Given the description of an element on the screen output the (x, y) to click on. 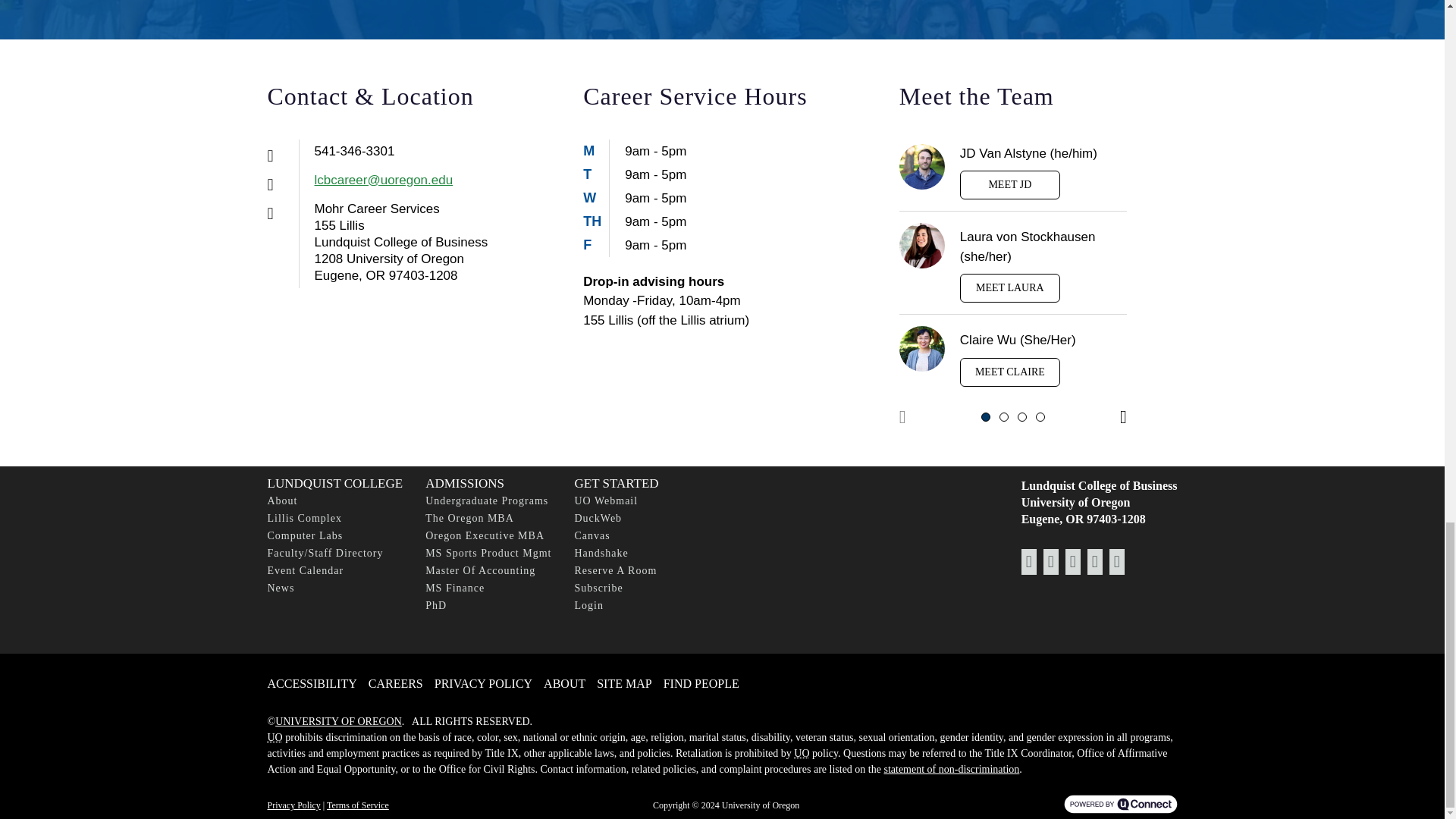
University of Oregon (801, 753)
University of Oregon (274, 737)
